Given the description of an element on the screen output the (x, y) to click on. 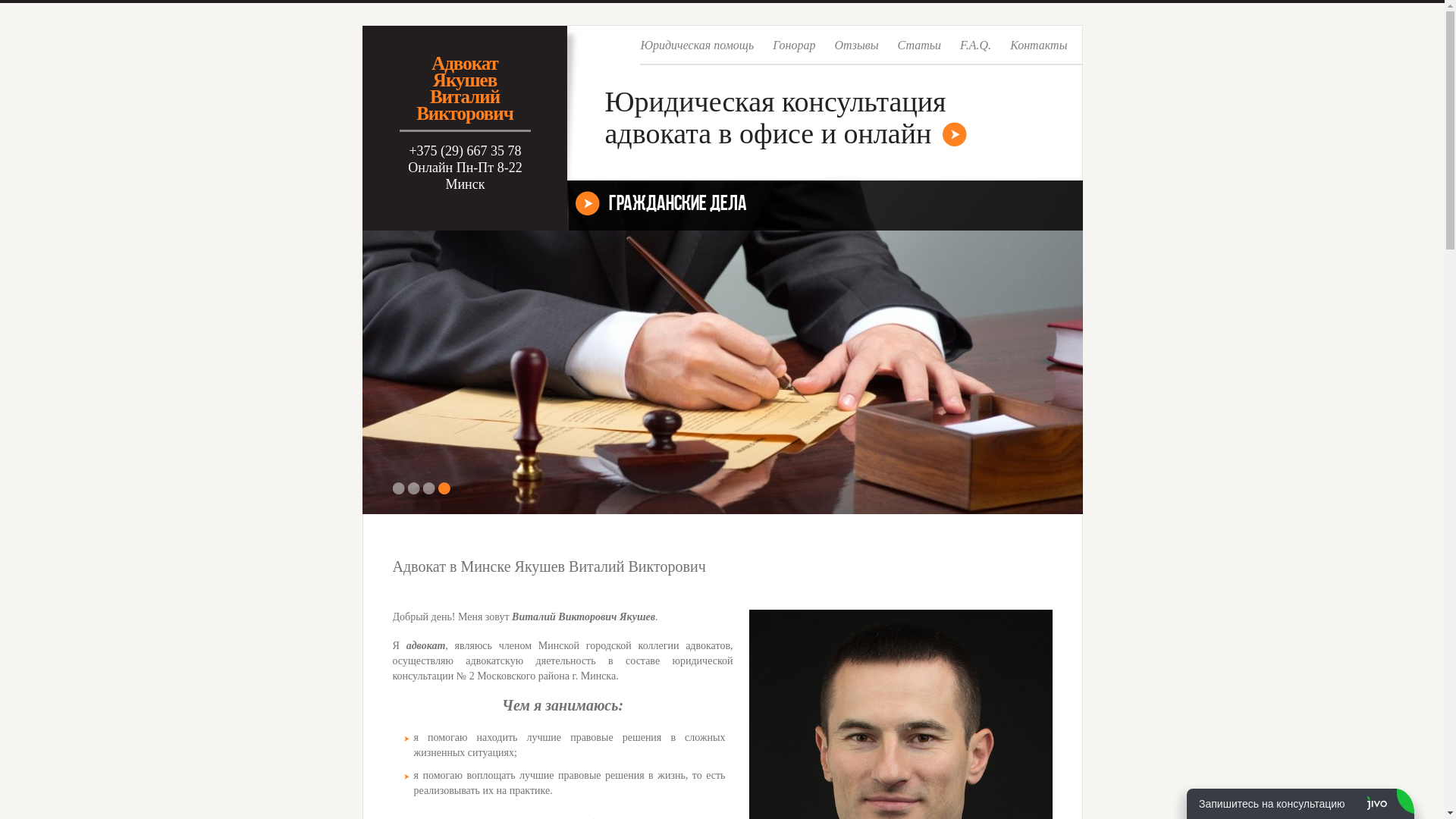
F.A.Q. Element type: text (975, 50)
4 Element type: text (444, 488)
2 Element type: text (413, 488)
1 Element type: text (398, 488)
3 Element type: text (429, 488)
